Given the description of an element on the screen output the (x, y) to click on. 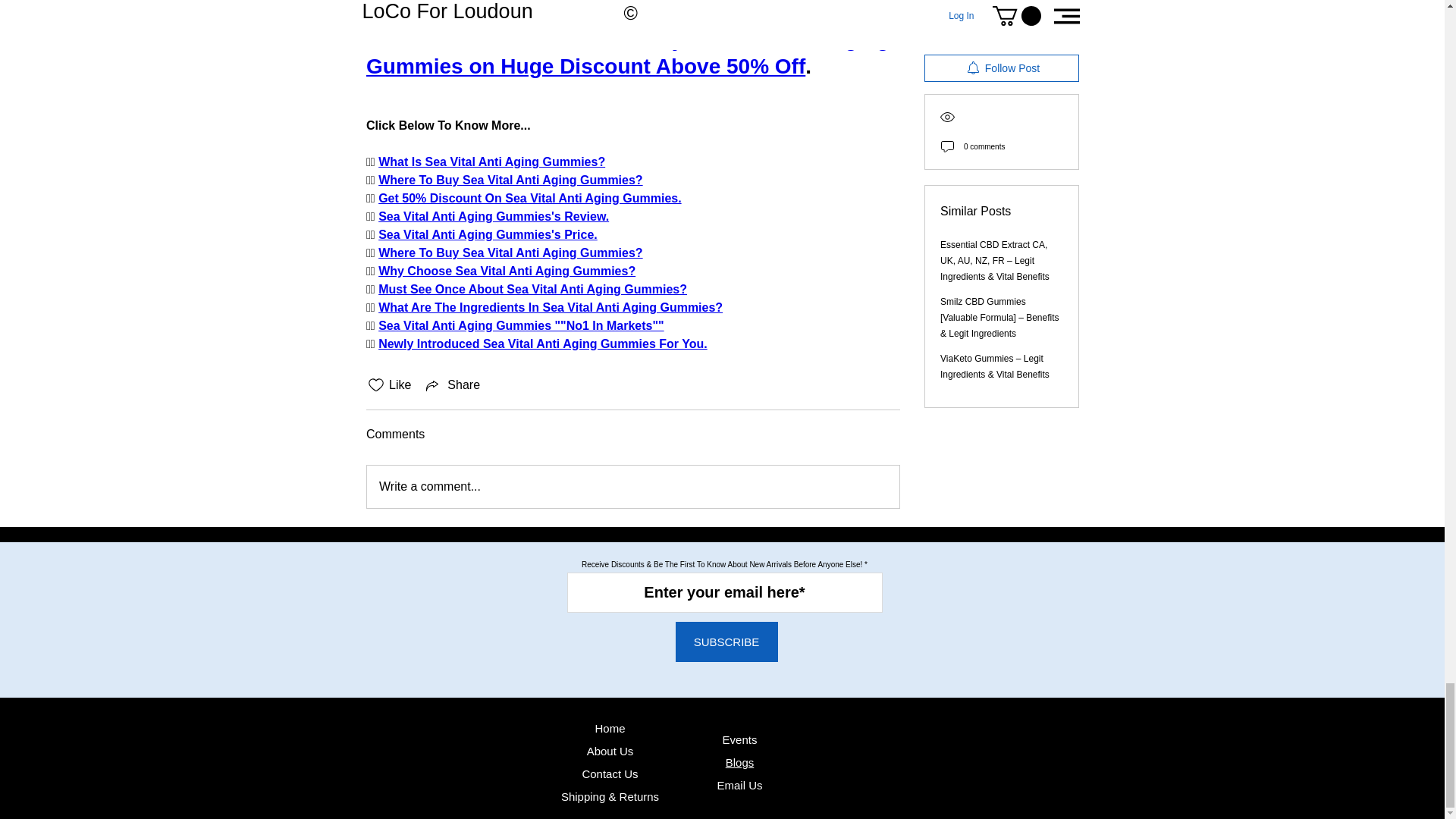
Sea Vital Anti Aging Gummies's Price. (487, 234)
Why Choose Sea Vital Anti Aging Gummies? (506, 270)
What Are The Ingredients In Sea Vital Anti Aging Gummies? (550, 307)
Newly Introduced Sea Vital Anti Aging Gummies For You. (542, 343)
Where To Buy Sea Vital Anti Aging Gummies? (510, 179)
Where To Buy Sea Vital Anti Aging Gummies? (510, 252)
Sea Vital Anti Aging Gummies ""No1 In Markets"" (520, 325)
Must See Once About Sea Vital Anti Aging Gummies? (532, 288)
Share (451, 384)
What Is Sea Vital Anti Aging Gummies? (491, 161)
Write a comment... (632, 486)
Sea Vital Anti Aging Gummies's Review. (493, 215)
